Given the description of an element on the screen output the (x, y) to click on. 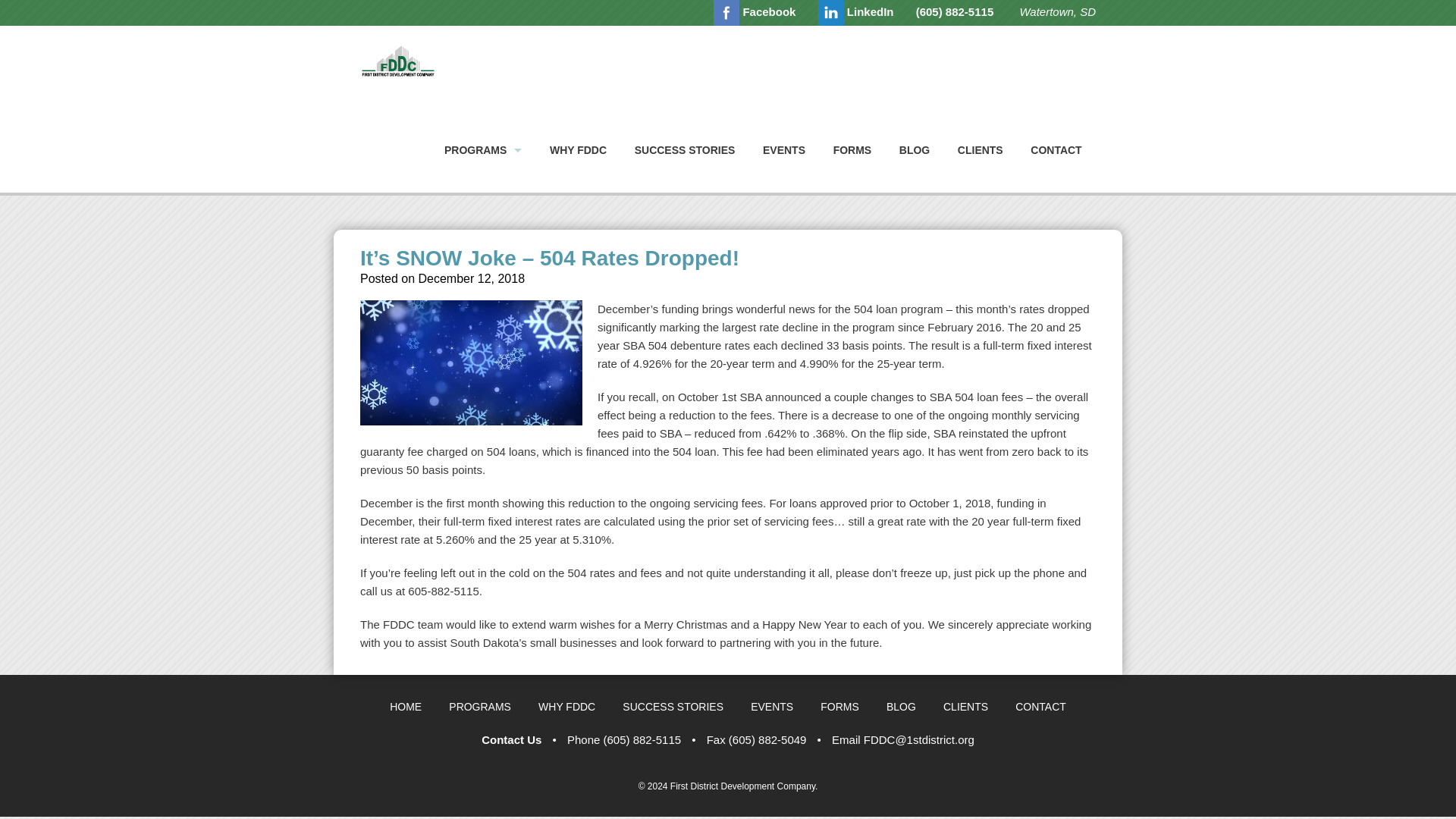
AGRIBUSINESS LOANS (482, 304)
PROGRAMS (482, 150)
REVOLVING LOAN FUNDS (482, 272)
SUCCESS STORIES (672, 706)
SBA 504 LOAN (482, 208)
EVENTS (771, 706)
PROGRAMS (479, 706)
BLOG (901, 706)
WHY FDDC (578, 150)
FORMS (839, 706)
